Given the description of an element on the screen output the (x, y) to click on. 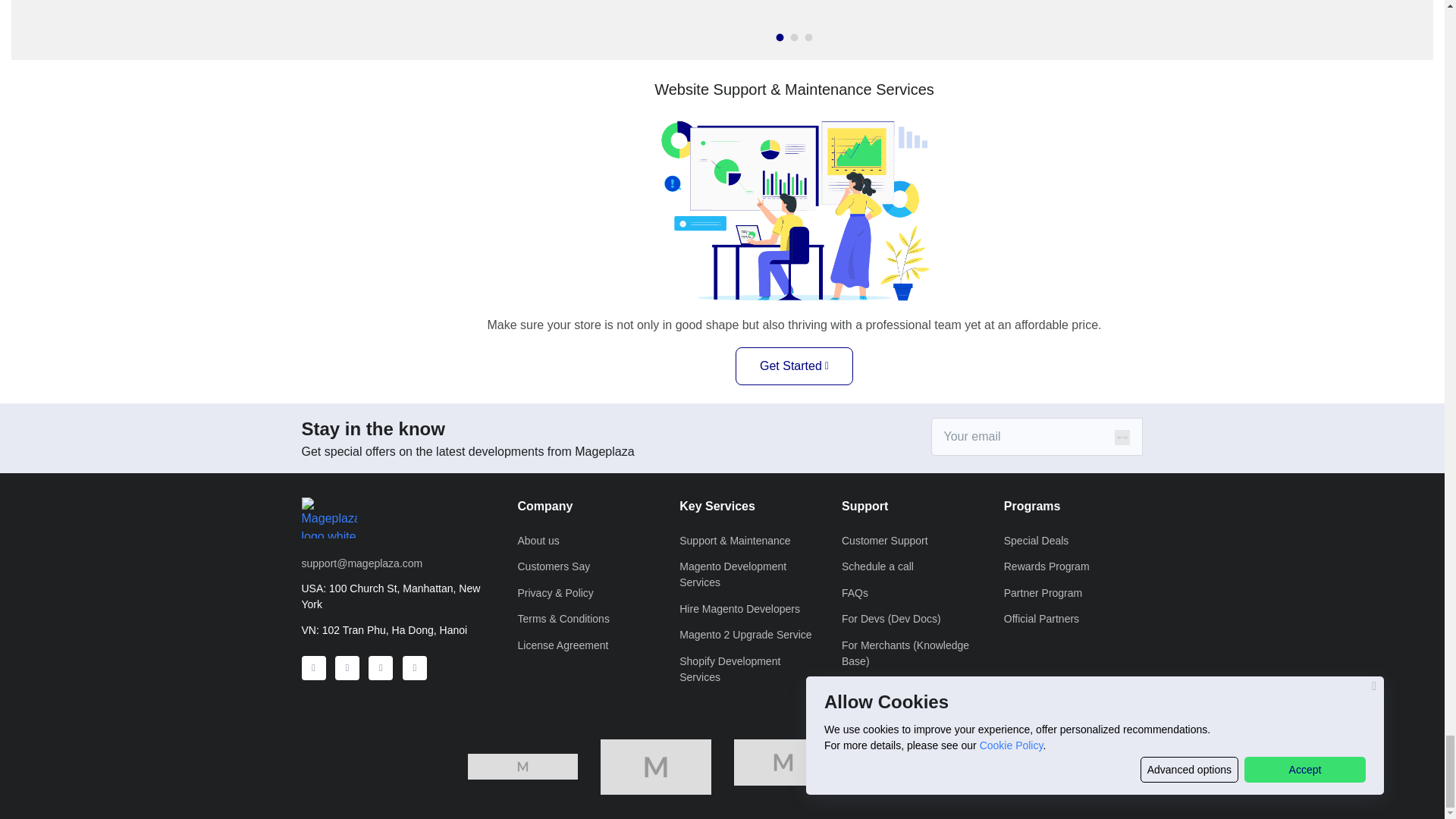
DMCA.com Protection Status (921, 765)
